Given the description of an element on the screen output the (x, y) to click on. 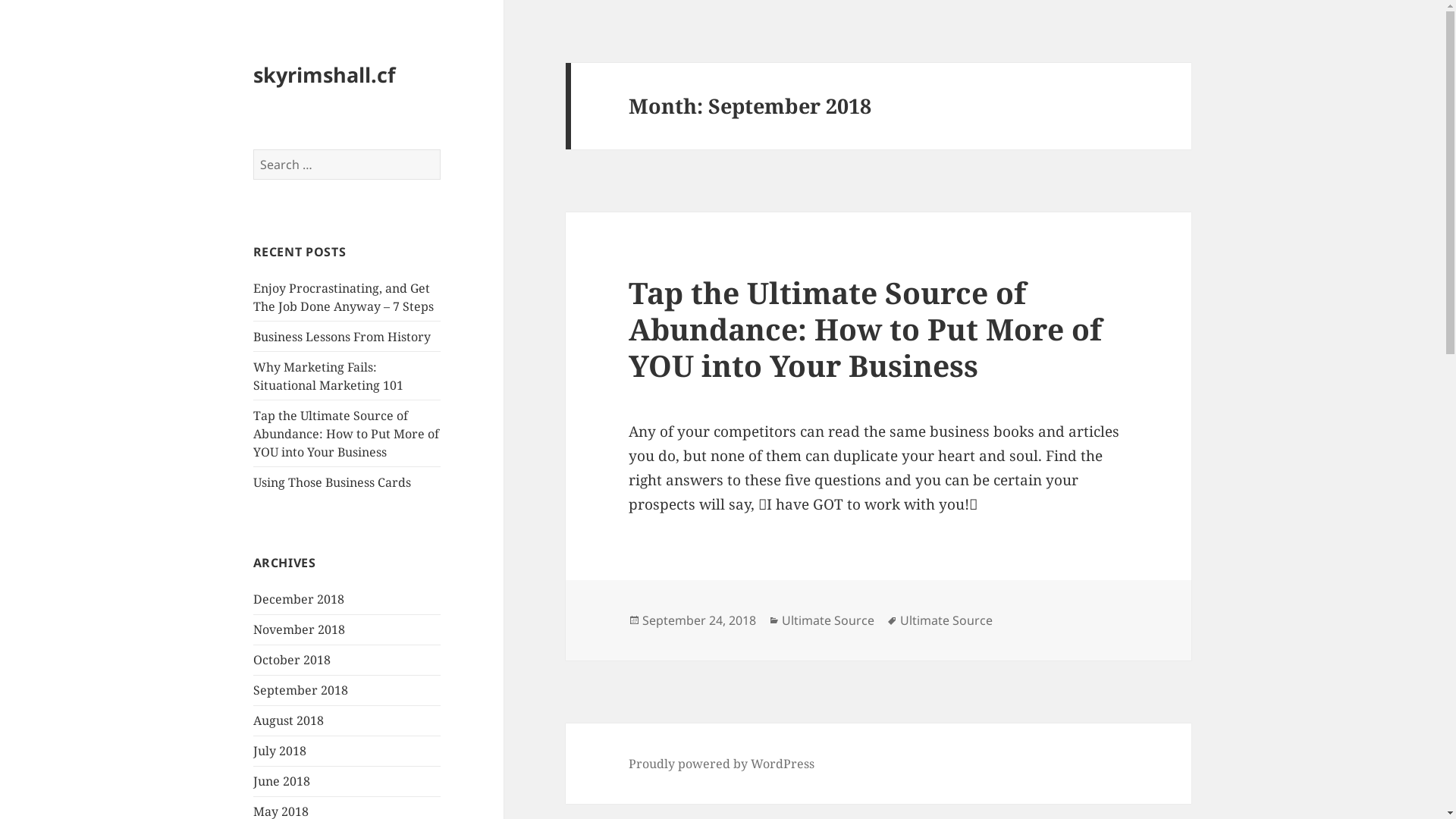
Using Those Business Cards Element type: text (332, 481)
Proudly powered by WordPress Element type: text (721, 763)
December 2018 Element type: text (298, 598)
July 2018 Element type: text (279, 750)
September 24, 2018 Element type: text (699, 620)
Business Lessons From History Element type: text (341, 336)
June 2018 Element type: text (281, 780)
October 2018 Element type: text (291, 659)
September 2018 Element type: text (300, 689)
Ultimate Source Element type: text (946, 620)
Why Marketing Fails: Situational Marketing 101 Element type: text (328, 375)
November 2018 Element type: text (299, 629)
skyrimshall.cf Element type: text (324, 74)
Search Element type: text (440, 149)
August 2018 Element type: text (288, 720)
Ultimate Source Element type: text (827, 620)
